Given the description of an element on the screen output the (x, y) to click on. 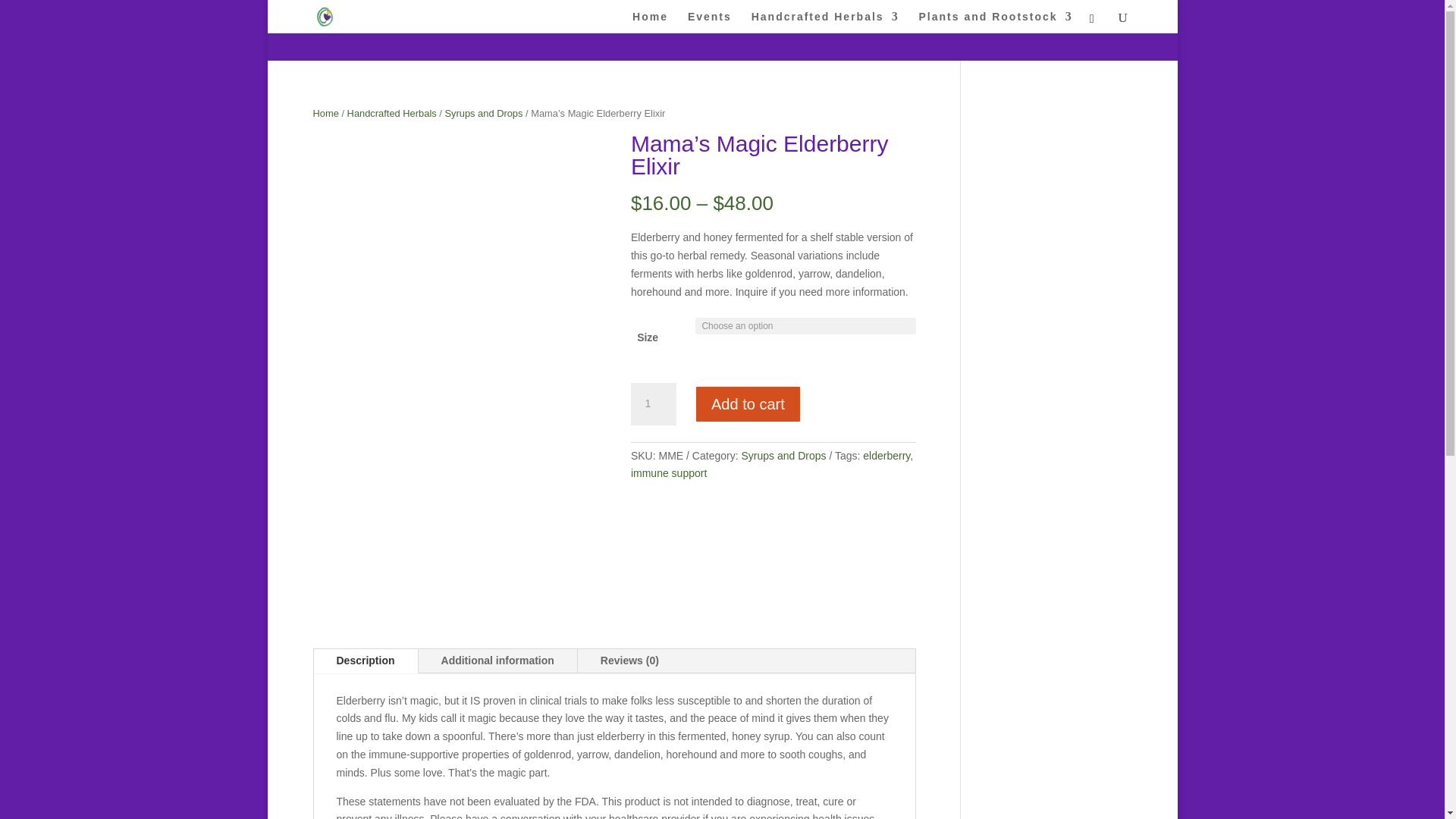
elderberry (886, 455)
1 (653, 404)
Handcrafted Herbals (825, 22)
Home (325, 112)
Home (649, 22)
Events (709, 22)
Description (365, 661)
Add to cart (748, 403)
immune support (668, 472)
Plants and Rootstock (995, 22)
Additional information (497, 661)
Handcrafted Herbals (391, 112)
Syrups and Drops (483, 112)
Syrups and Drops (783, 455)
